Given the description of an element on the screen output the (x, y) to click on. 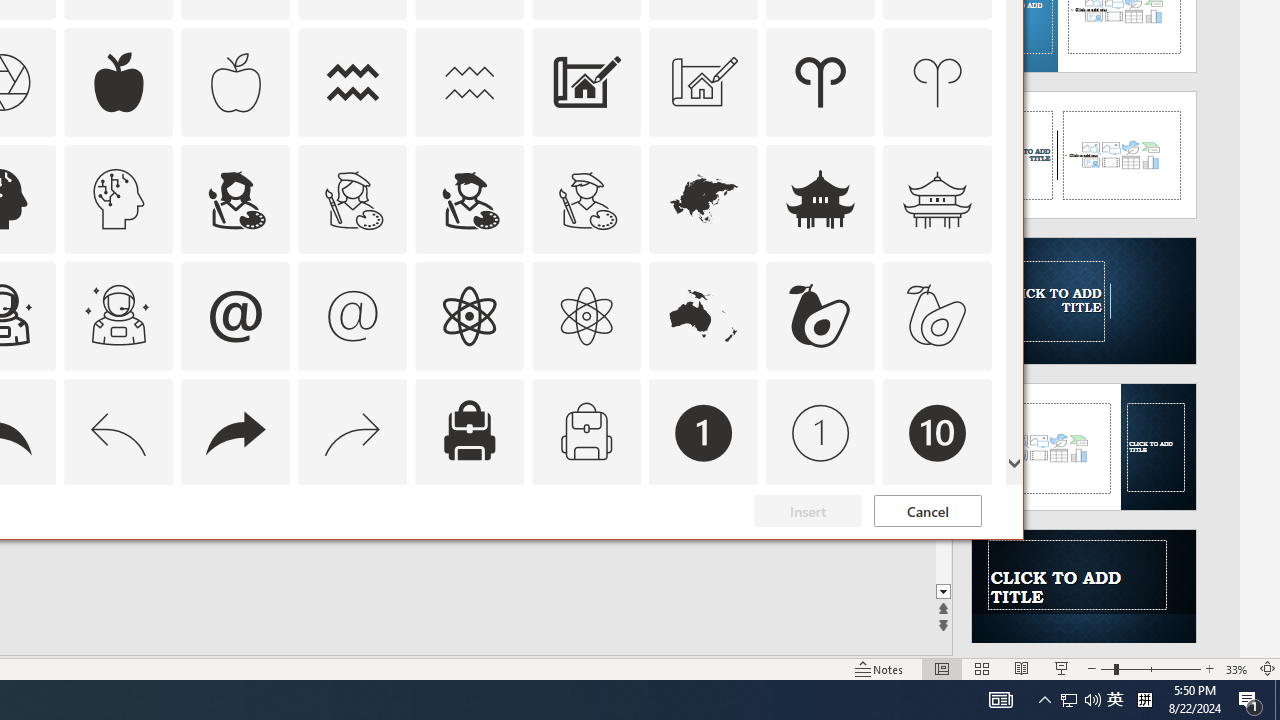
AutomationID: Icons_Badge9_M (938, 550)
AutomationID: Icons_ArtistMale (469, 198)
AutomationID: Icons_Badge9 (820, 550)
AutomationID: Icons_Backpack (469, 432)
AutomationID: Icons_Architecture (586, 82)
